Given the description of an element on the screen output the (x, y) to click on. 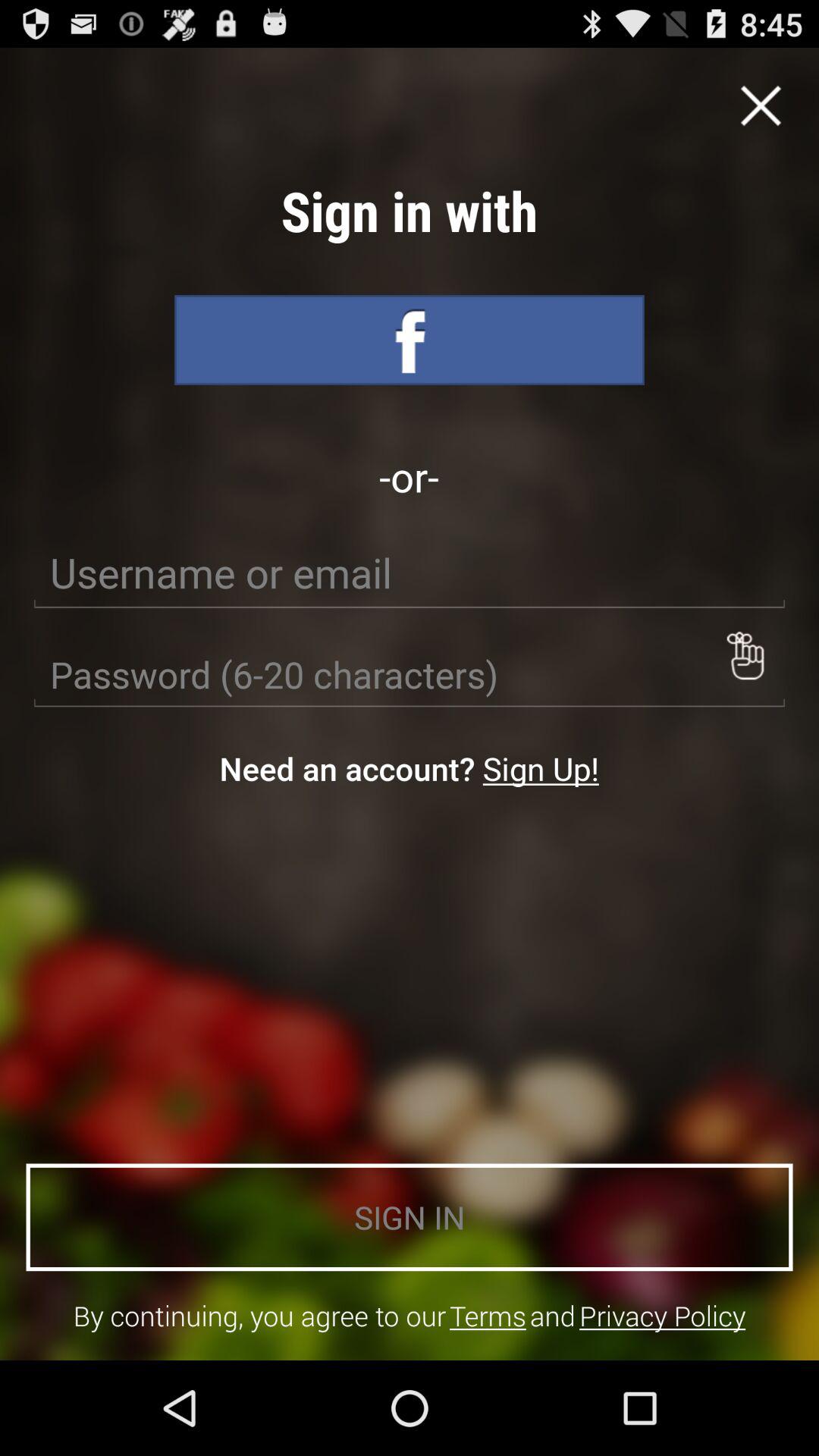
tap item to the left of the and item (487, 1315)
